Given the description of an element on the screen output the (x, y) to click on. 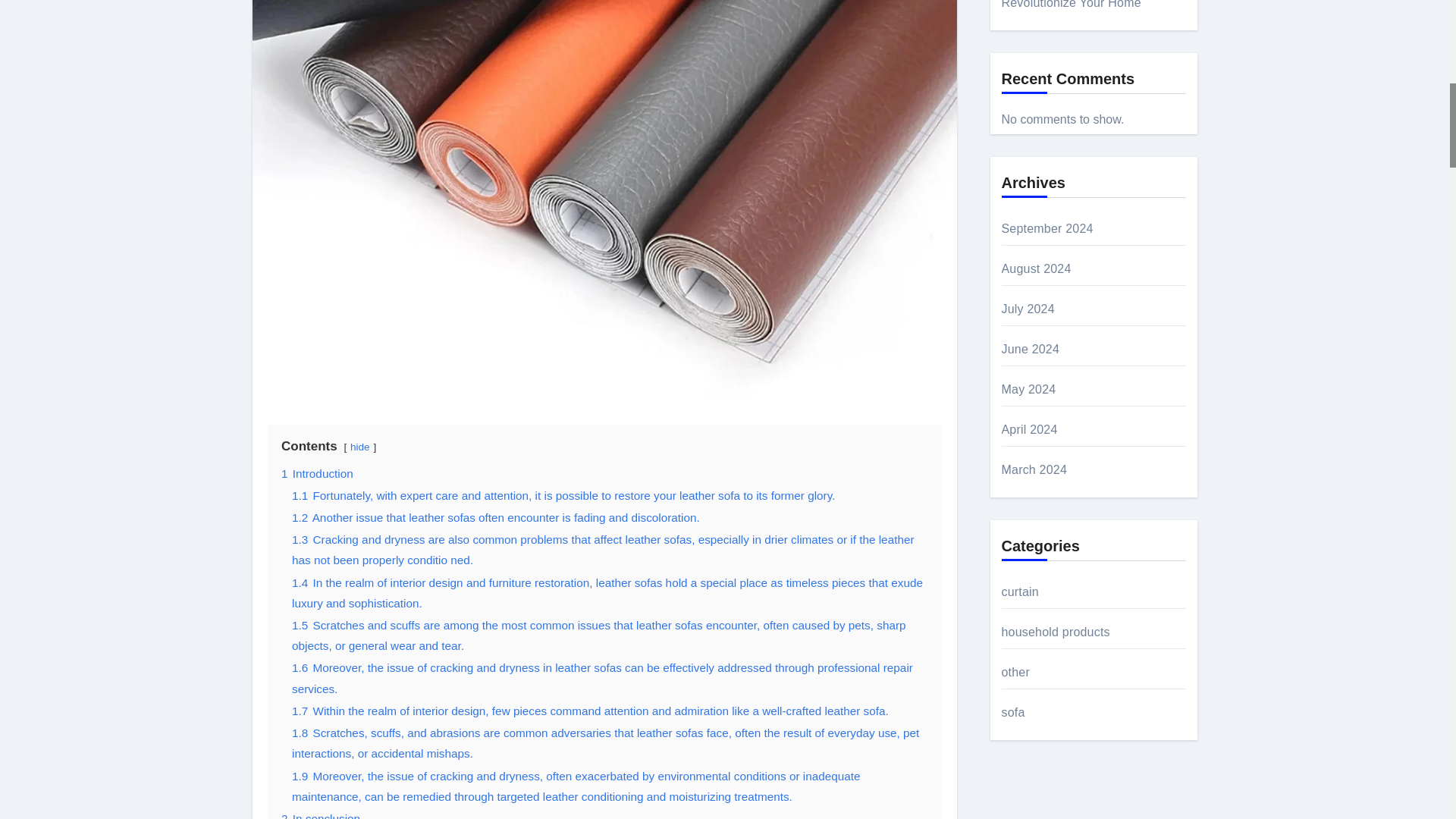
hide (359, 446)
